Given the description of an element on the screen output the (x, y) to click on. 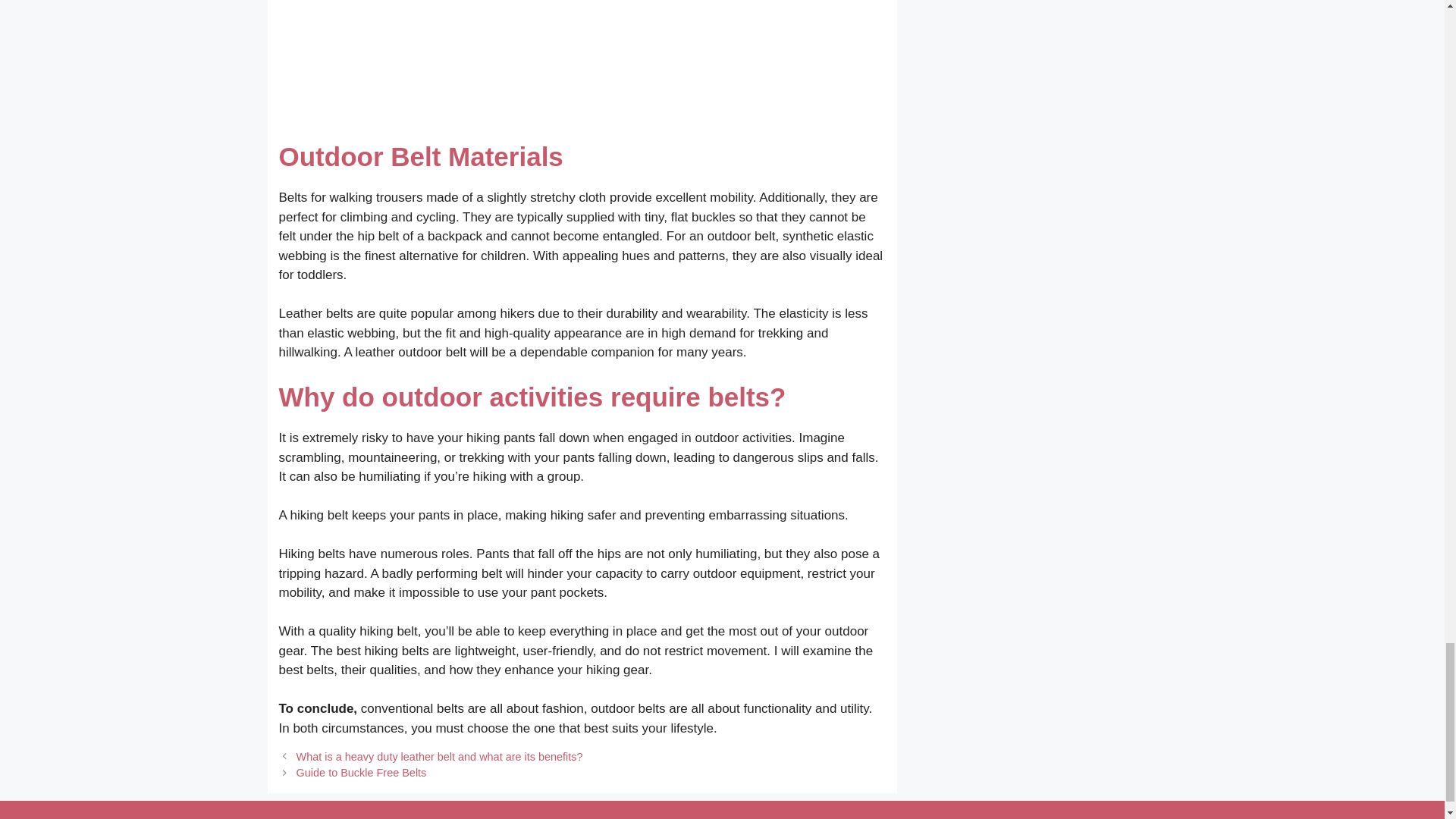
Guide to Buckle Free Belts (361, 772)
What is a heavy duty leather belt and what are its benefits? (440, 756)
